Given the description of an element on the screen output the (x, y) to click on. 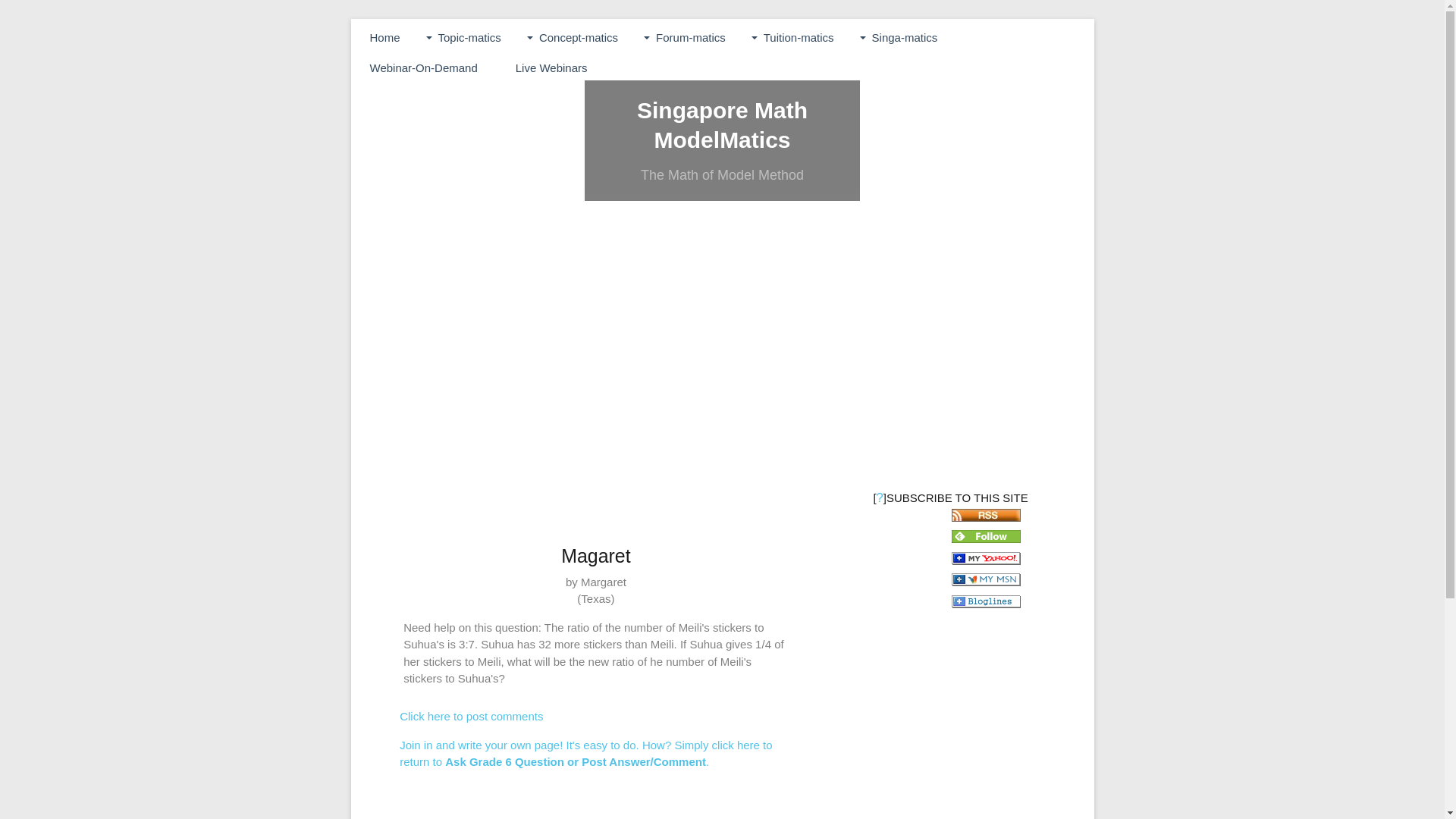
Singapore Math ModelMatics (722, 124)
Home (384, 37)
